Given the description of an element on the screen output the (x, y) to click on. 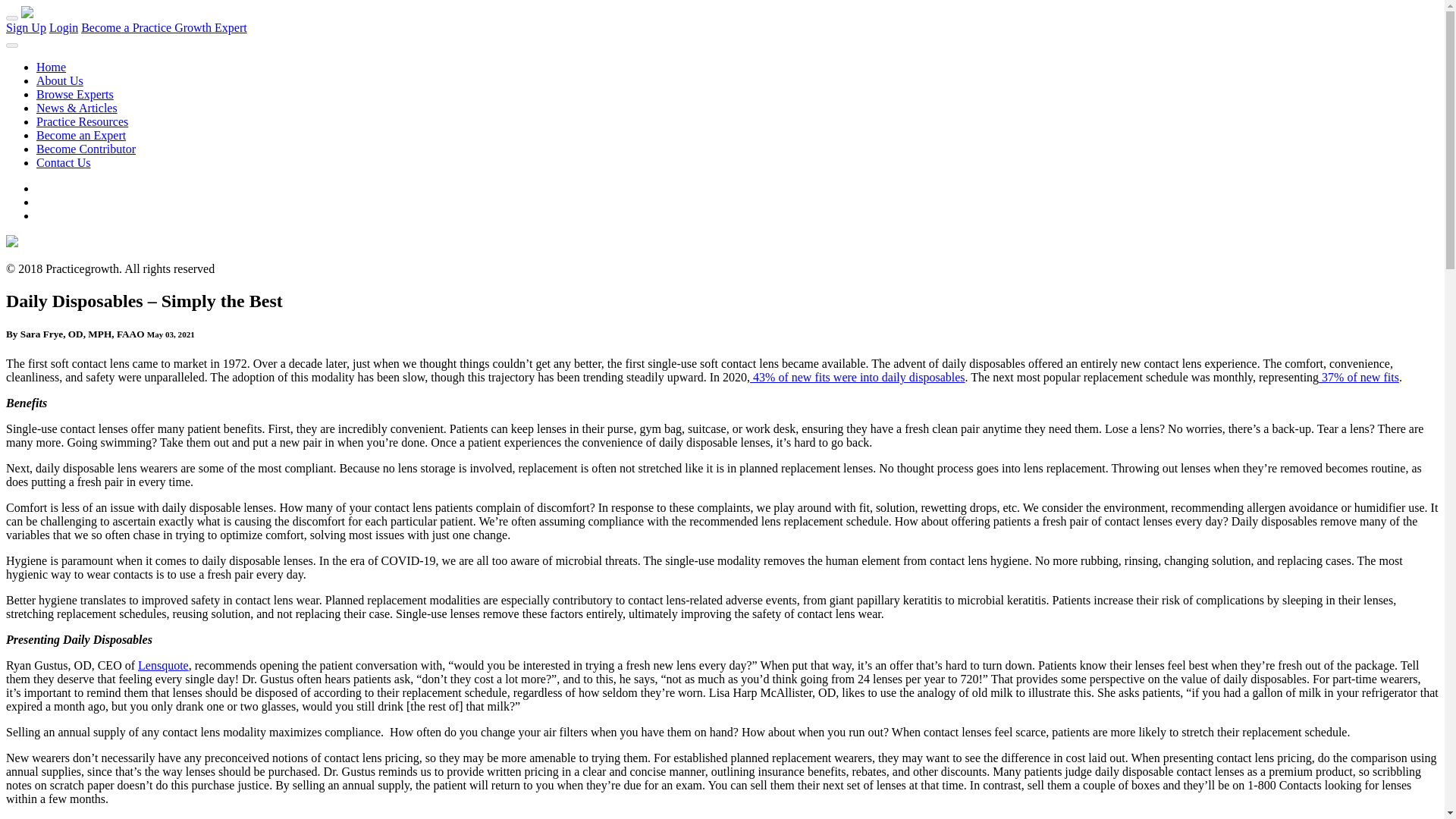
Sign Up (25, 27)
Home (50, 66)
Become a Practice Growth Expert (164, 27)
Lensquote (163, 665)
Become Contributor (85, 148)
Login (63, 27)
Browse Experts (74, 93)
Contact Us (63, 162)
Lensquote (163, 665)
Become an Expert (80, 134)
